Given the description of an element on the screen output the (x, y) to click on. 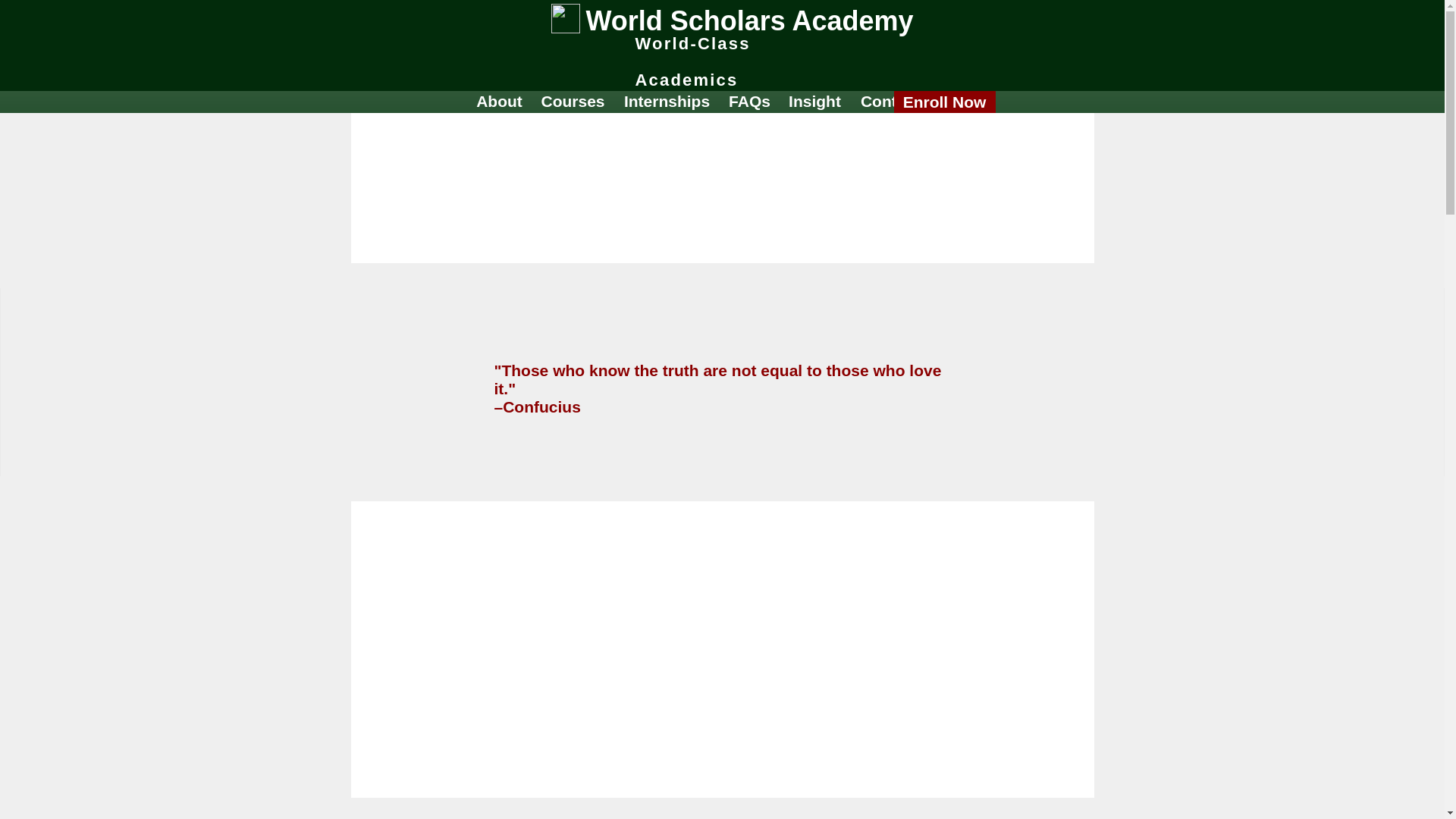
About (499, 100)
FAQs (749, 100)
Insight (814, 100)
Courses (573, 100)
Internships (667, 100)
Enroll Now (943, 101)
World Scholars Academy (748, 20)
Contact (890, 100)
